Given the description of an element on the screen output the (x, y) to click on. 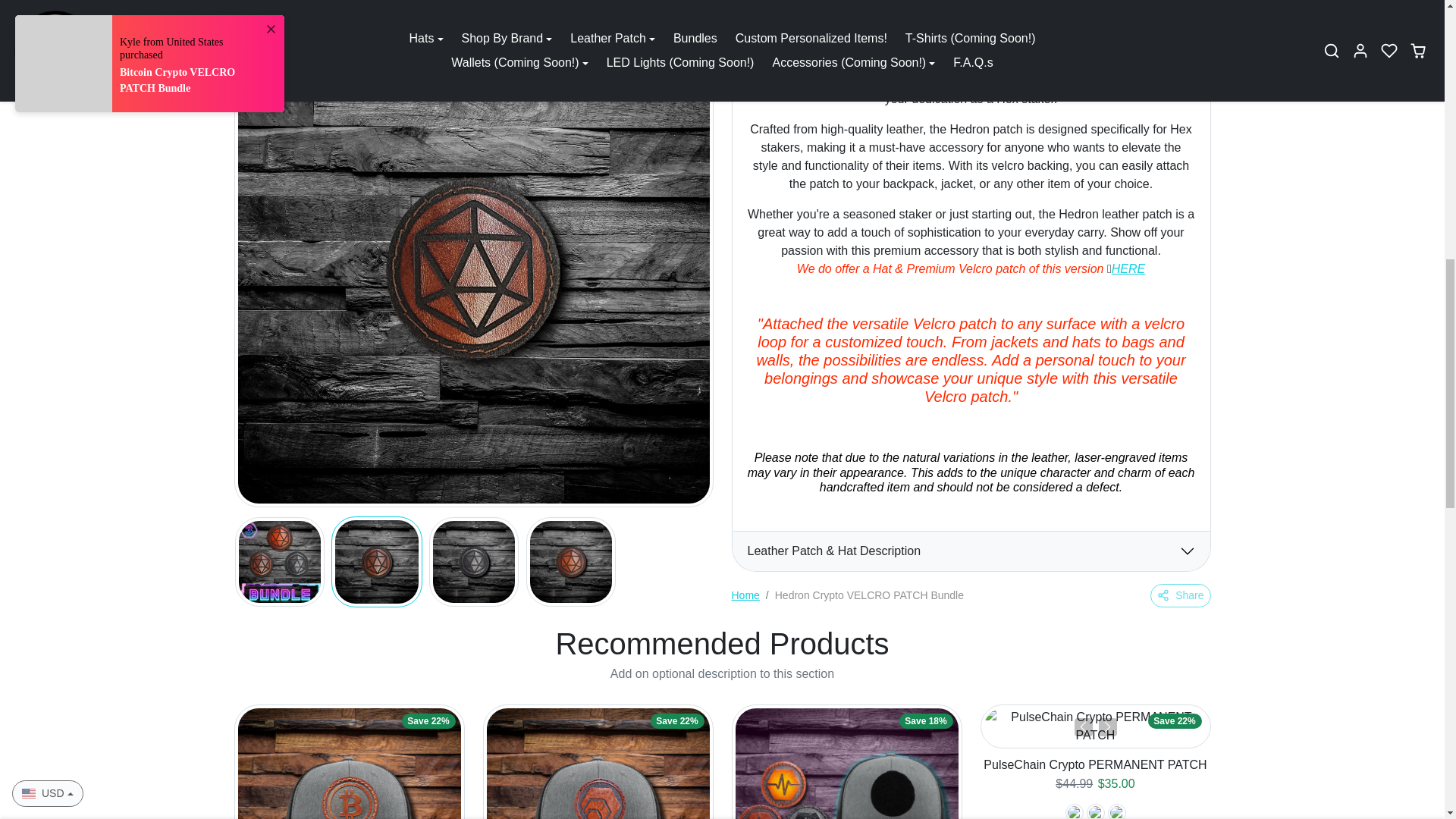
HERE (1128, 268)
1 (817, 43)
